Given the description of an element on the screen output the (x, y) to click on. 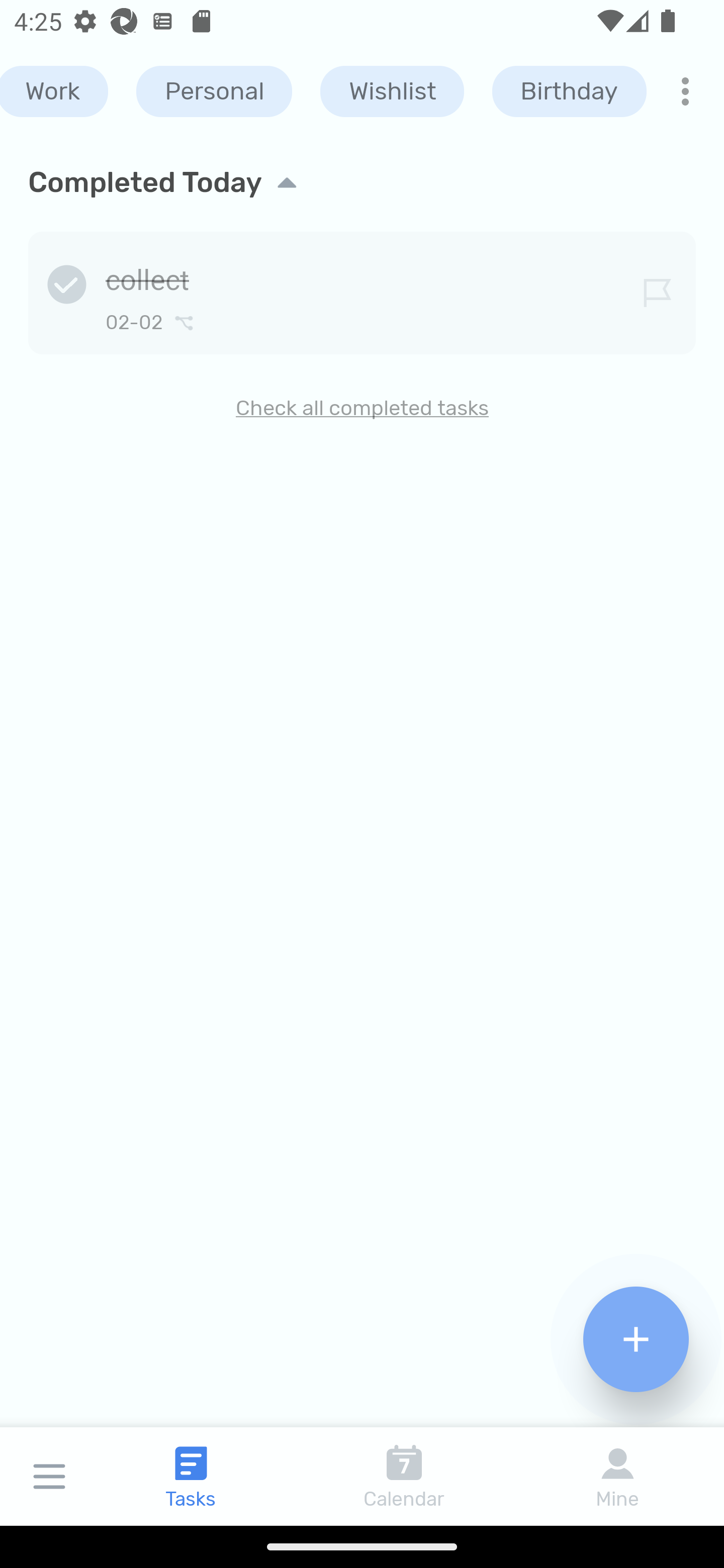
Work (53, 91)
Personal (213, 91)
Wishlist (392, 91)
Birthday (569, 91)
Completed Today (362, 182)
collect 02-02 (362, 289)
Check all completed tasks (361, 408)
Tasks (190, 1475)
Calendar (404, 1475)
Mine (617, 1475)
